Given the description of an element on the screen output the (x, y) to click on. 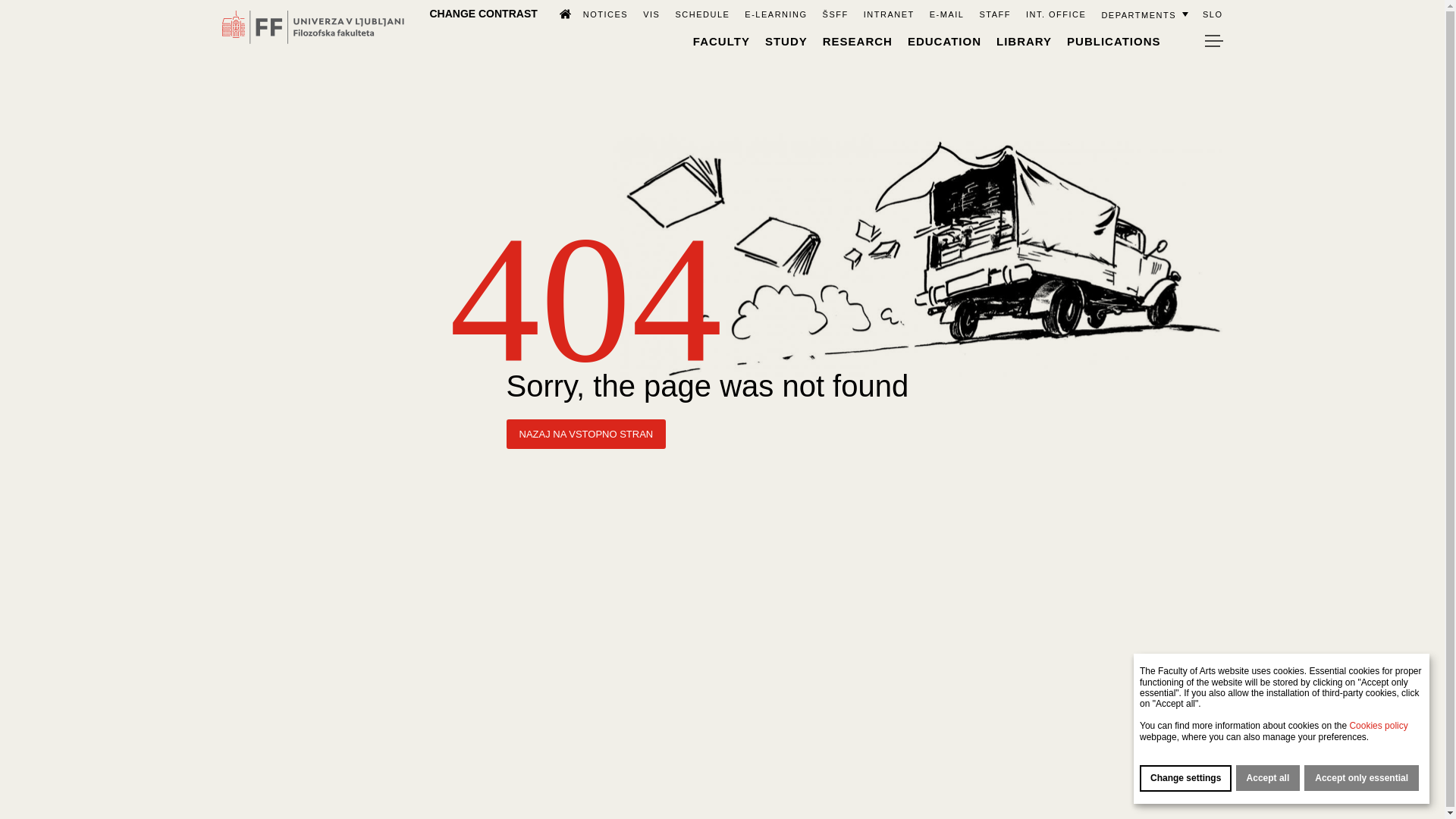
DEPARTMENTS (1144, 14)
SLO (1212, 13)
STUDY (786, 41)
Home (558, 13)
E-MAIL (946, 13)
NOTICES (605, 13)
RESEARCH (857, 41)
Urnik (702, 13)
VIS (651, 13)
INTRANET (888, 13)
Intranet (888, 13)
INT. OFFICE (1056, 13)
FACULTY (721, 41)
CHANGE CONTRAST (483, 13)
